Given the description of an element on the screen output the (x, y) to click on. 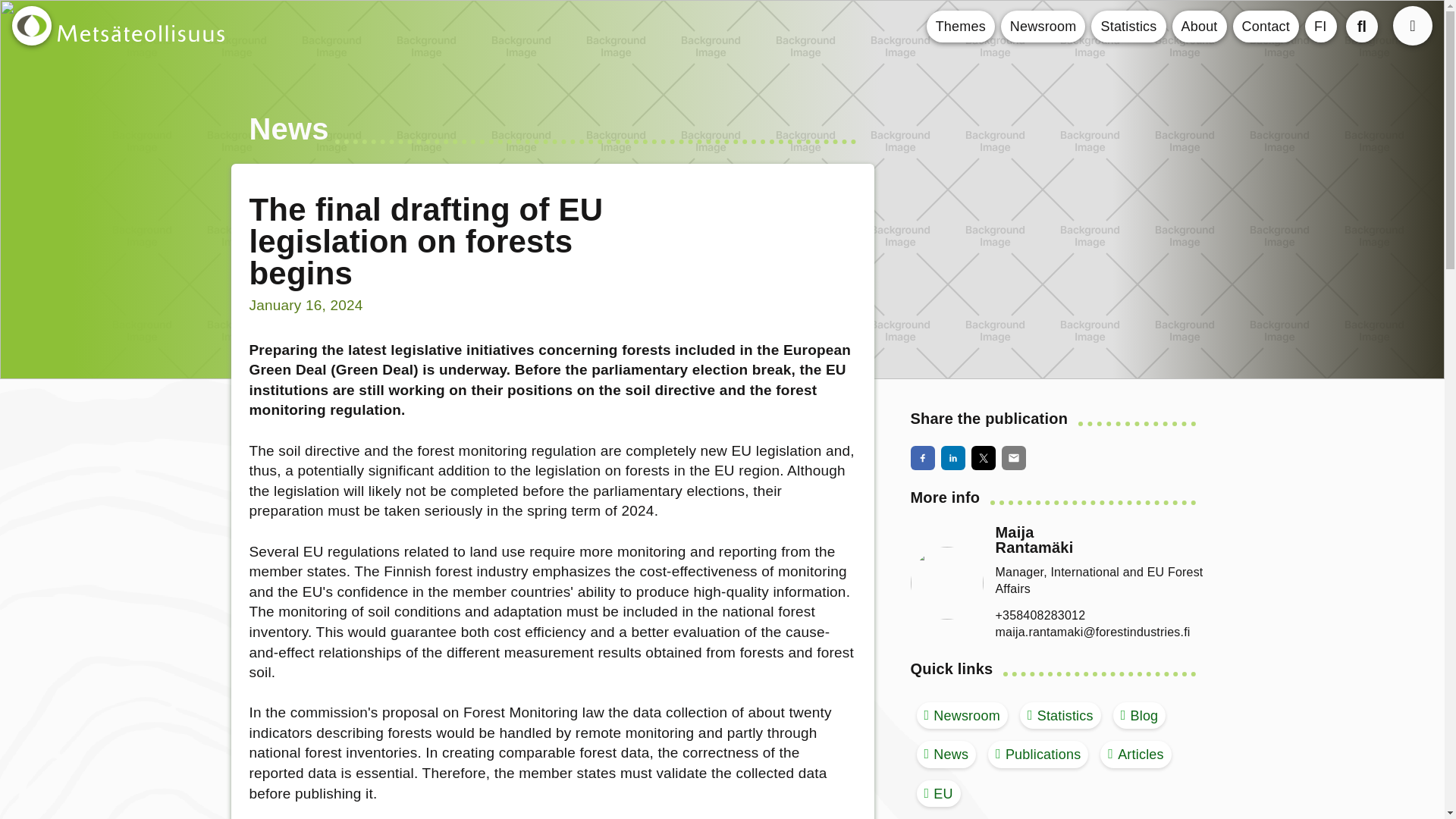
Themes (960, 26)
Statistics (1128, 26)
FI (1320, 26)
Newsroom (1043, 26)
Siirry etusivulle (30, 25)
About (1199, 26)
Contact (1265, 26)
